Given the description of an element on the screen output the (x, y) to click on. 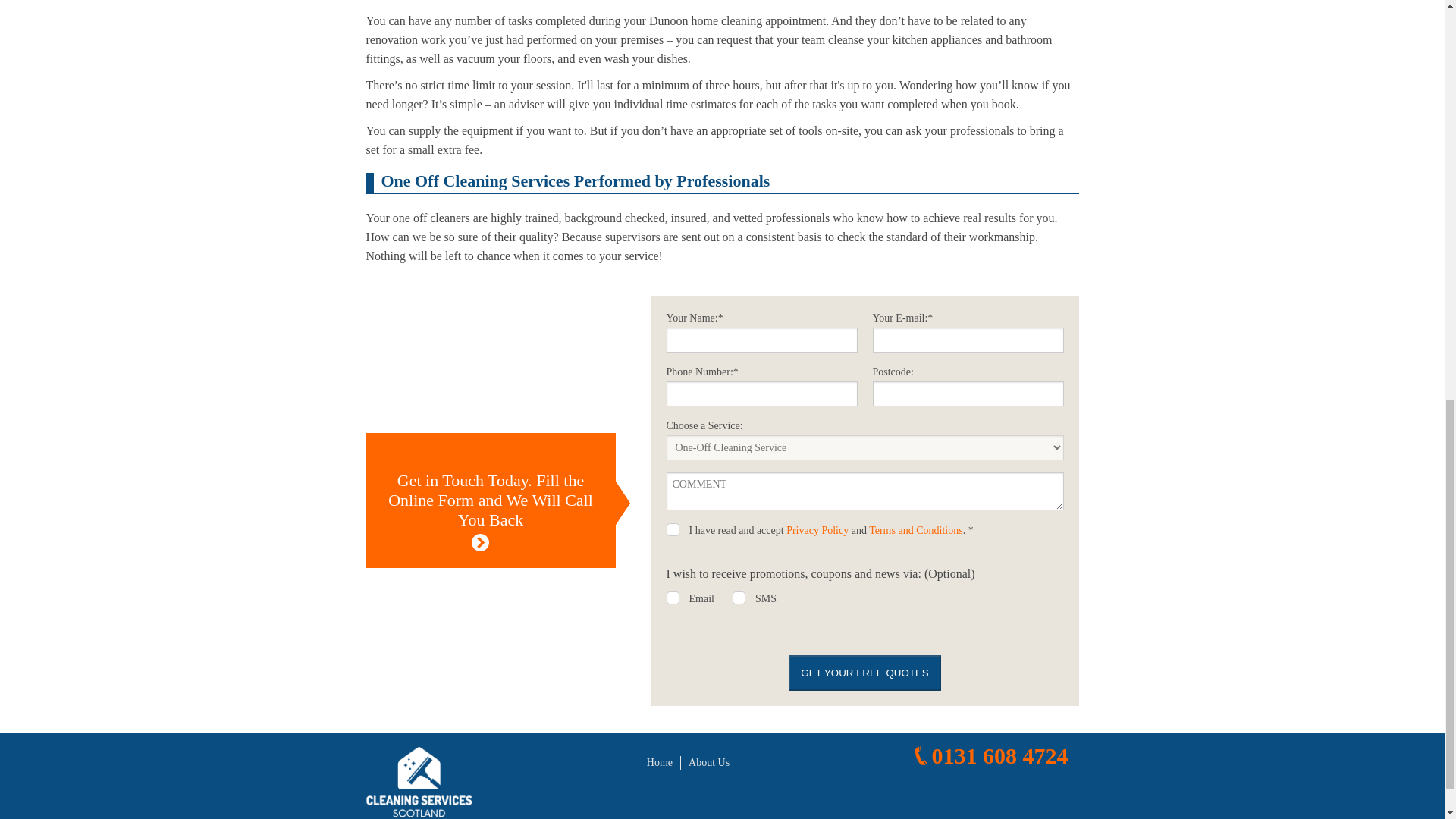
Get Your Free Quotes (864, 673)
Terms and Conditions (915, 530)
Home (659, 762)
Privacy Policy (817, 530)
0131 608 4724 (989, 755)
About Us (708, 762)
Get Your Free Quotes (864, 673)
